Given the description of an element on the screen output the (x, y) to click on. 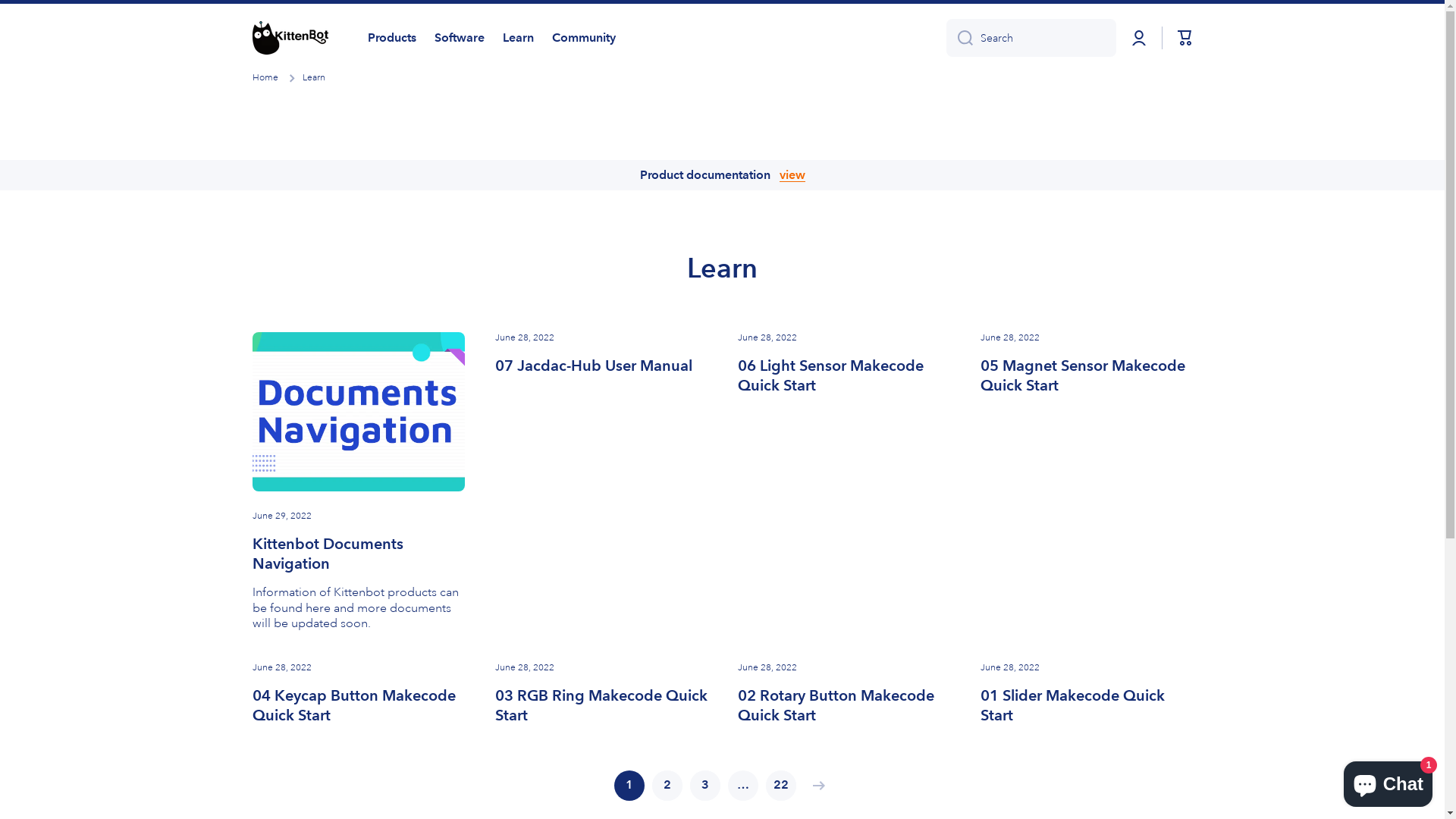
Software Element type: text (458, 38)
Community Element type: text (583, 38)
05 Magnet Sensor Makecode Quick Start Element type: text (1085, 375)
07 Jacdac-Hub User Manual Element type: text (592, 365)
Cart Element type: text (1184, 37)
04 Keycap Button Makecode Quick Start Element type: text (357, 704)
Product documentation   
view Element type: text (722, 175)
Shopify online store chat Element type: hover (1388, 780)
03 RGB Ring Makecode Quick Start Element type: text (600, 704)
01 Slider Makecode Quick Start Element type: text (1085, 704)
Kittenbot Documents Navigation Element type: text (357, 553)
Log in Element type: text (1138, 37)
06 Light Sensor Makecode Quick Start Element type: text (843, 375)
3 Element type: text (705, 785)
2 Element type: text (667, 785)
Home Element type: text (264, 78)
02 Rotary Button Makecode Quick Start Element type: text (843, 704)
22 Element type: text (780, 785)
Learn Element type: text (517, 38)
